Given the description of an element on the screen output the (x, y) to click on. 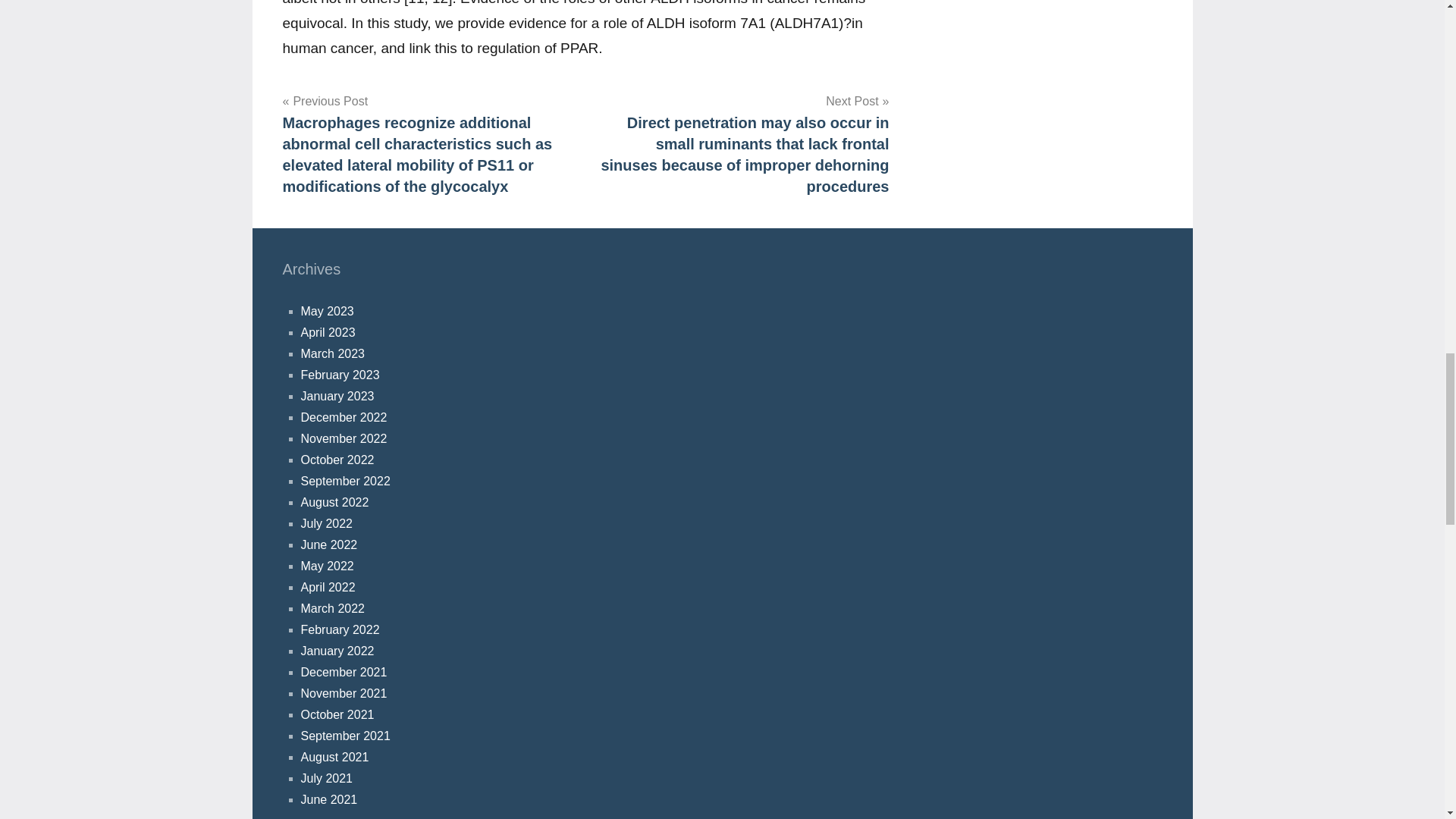
March 2023 (332, 353)
November 2021 (343, 693)
May 2023 (326, 310)
May 2022 (326, 565)
February 2022 (338, 629)
September 2021 (344, 735)
January 2022 (336, 650)
August 2021 (333, 757)
July 2021 (325, 778)
February 2023 (338, 374)
